Given the description of an element on the screen output the (x, y) to click on. 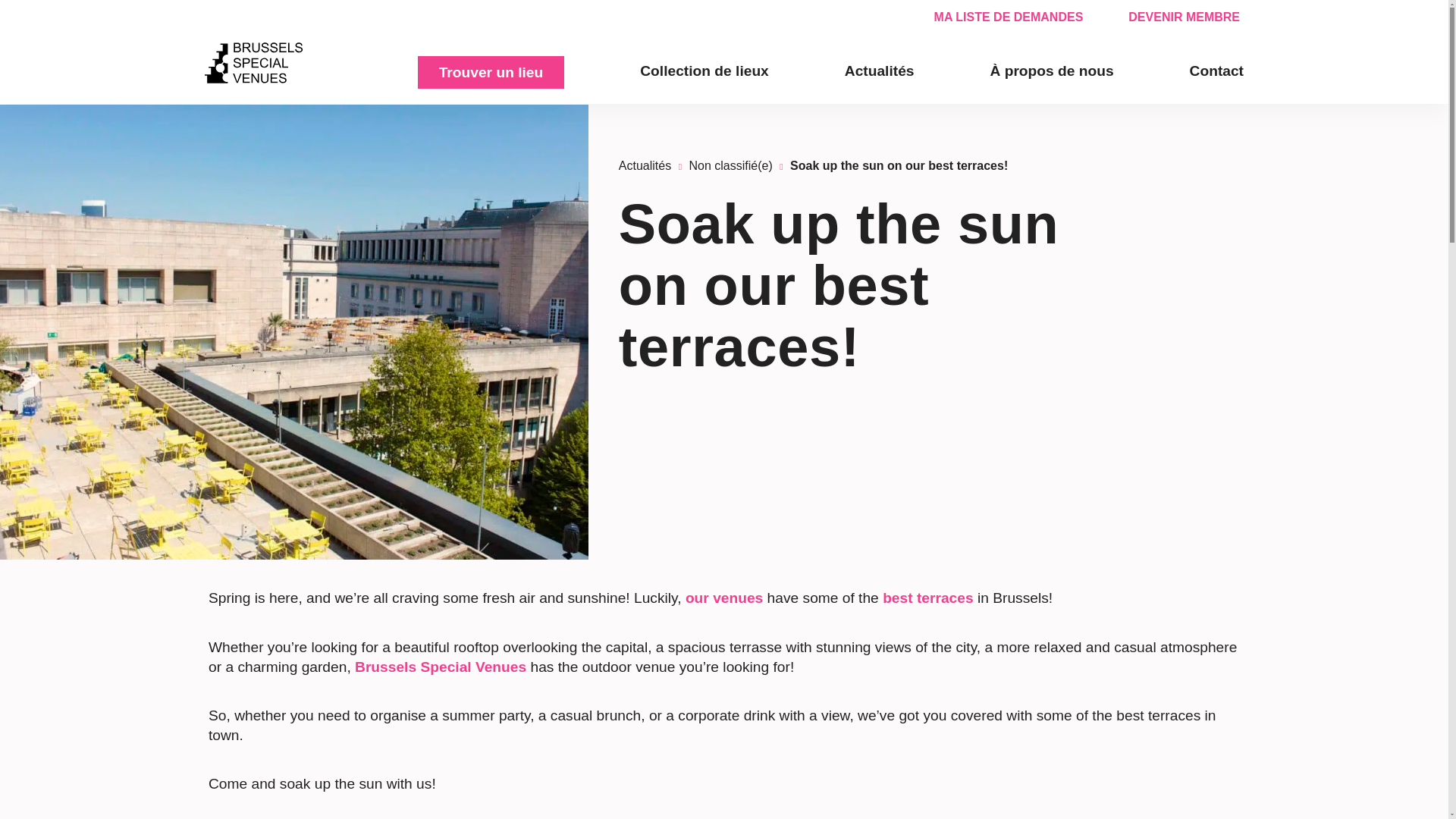
Devenir membre (1184, 17)
Contact (1216, 72)
Collection de lieux (704, 72)
Trouver un lieu (490, 72)
Trouver un lieu (490, 72)
Ma liste de demandes (1008, 17)
DEVENIR MEMBRE (1184, 17)
Collection de lieux (704, 72)
best terraces (927, 597)
Brussels Special Venues (440, 666)
our venues (723, 597)
Contact (1216, 72)
MA LISTE DE DEMANDES (1008, 17)
Brussels Special Venues (253, 63)
